Given the description of an element on the screen output the (x, y) to click on. 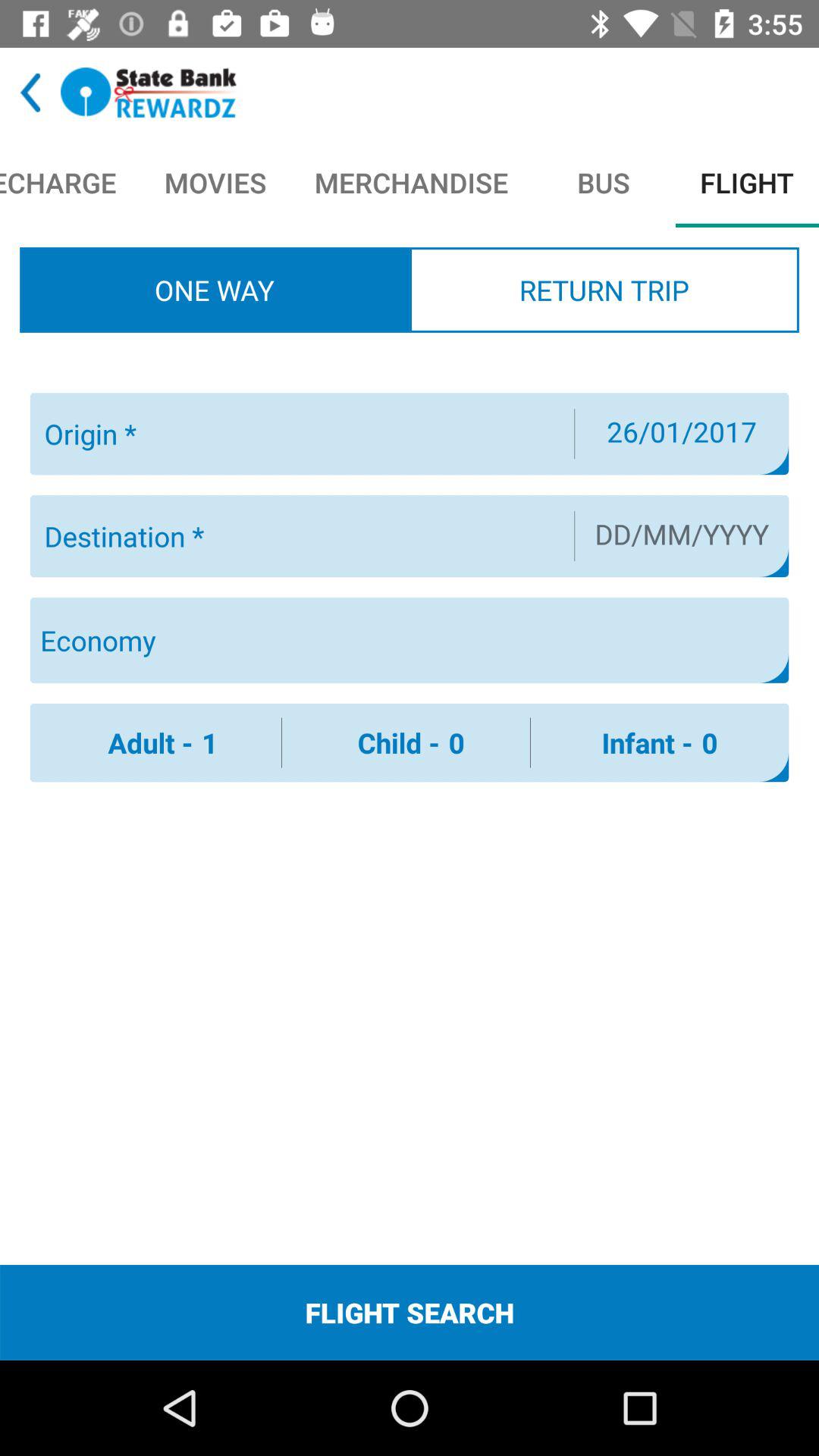
creat origin (300, 433)
